Given the description of an element on the screen output the (x, y) to click on. 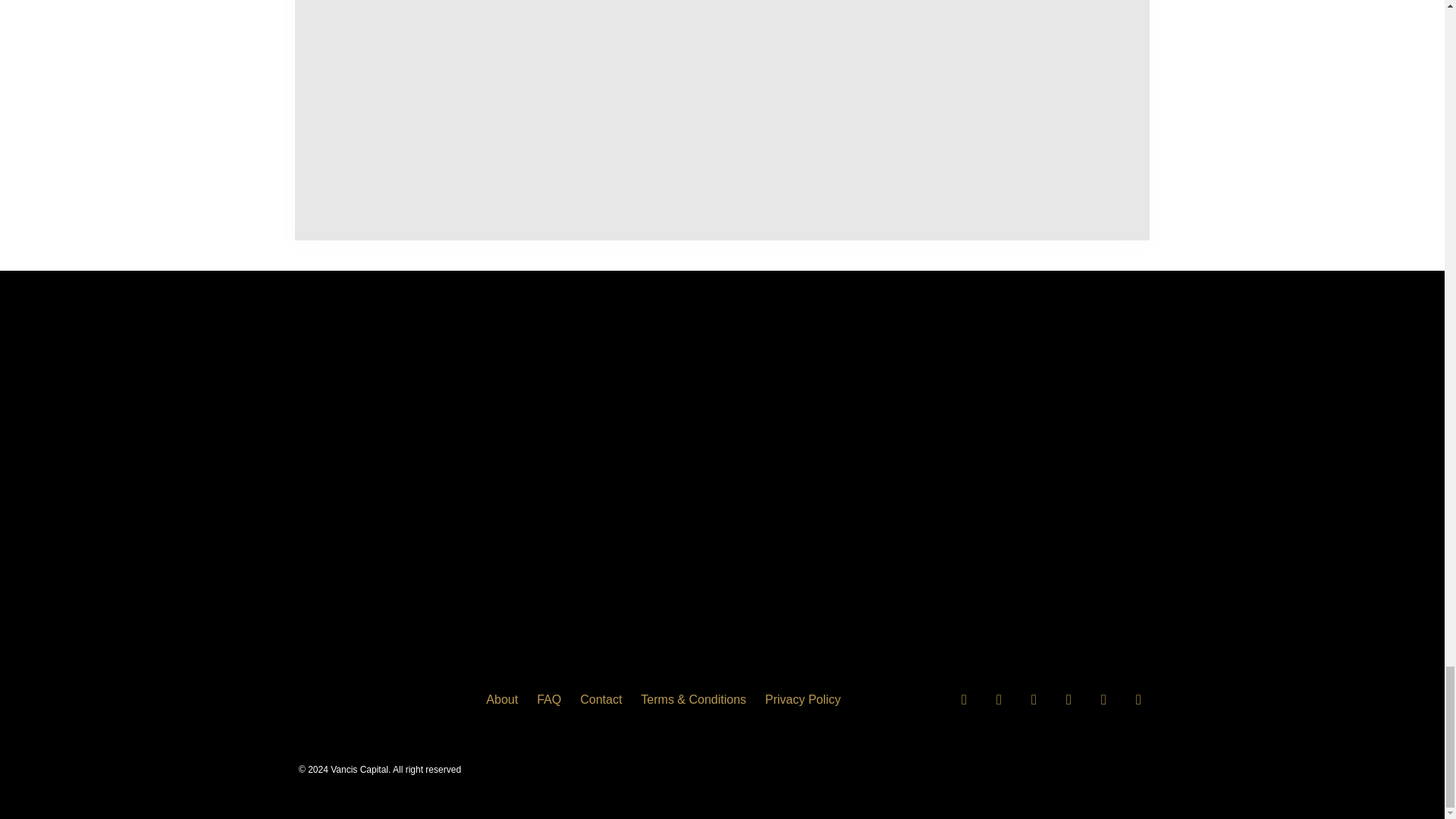
Privacy Policy (803, 699)
Contact (600, 699)
About (502, 699)
FAQ (548, 699)
